Given the description of an element on the screen output the (x, y) to click on. 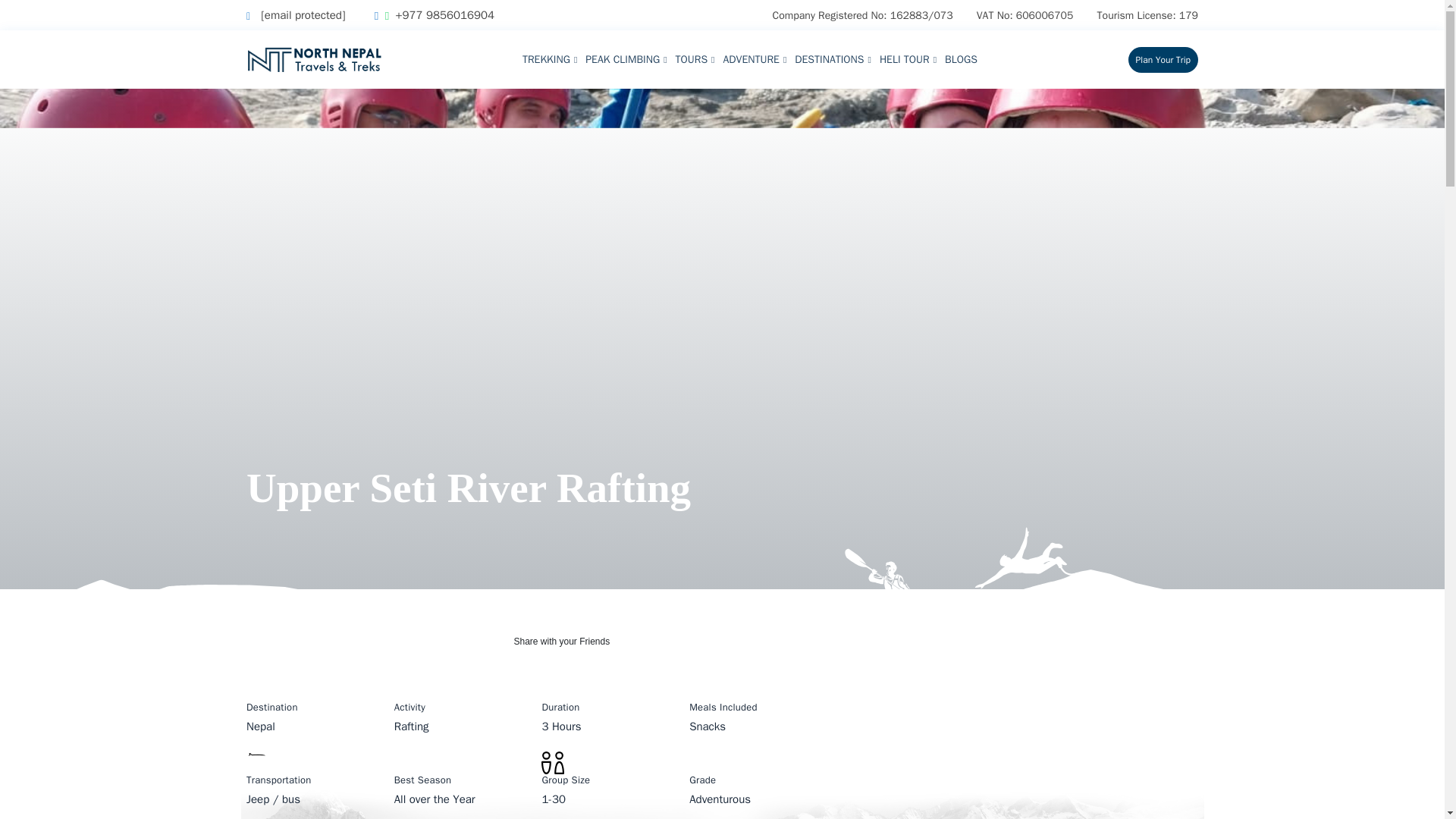
BLOGS (960, 59)
Tourism License: 179 (1147, 15)
Plan Your Trip (1163, 59)
VAT No: 606006705 (1025, 15)
TREKKING (549, 59)
